Given the description of an element on the screen output the (x, y) to click on. 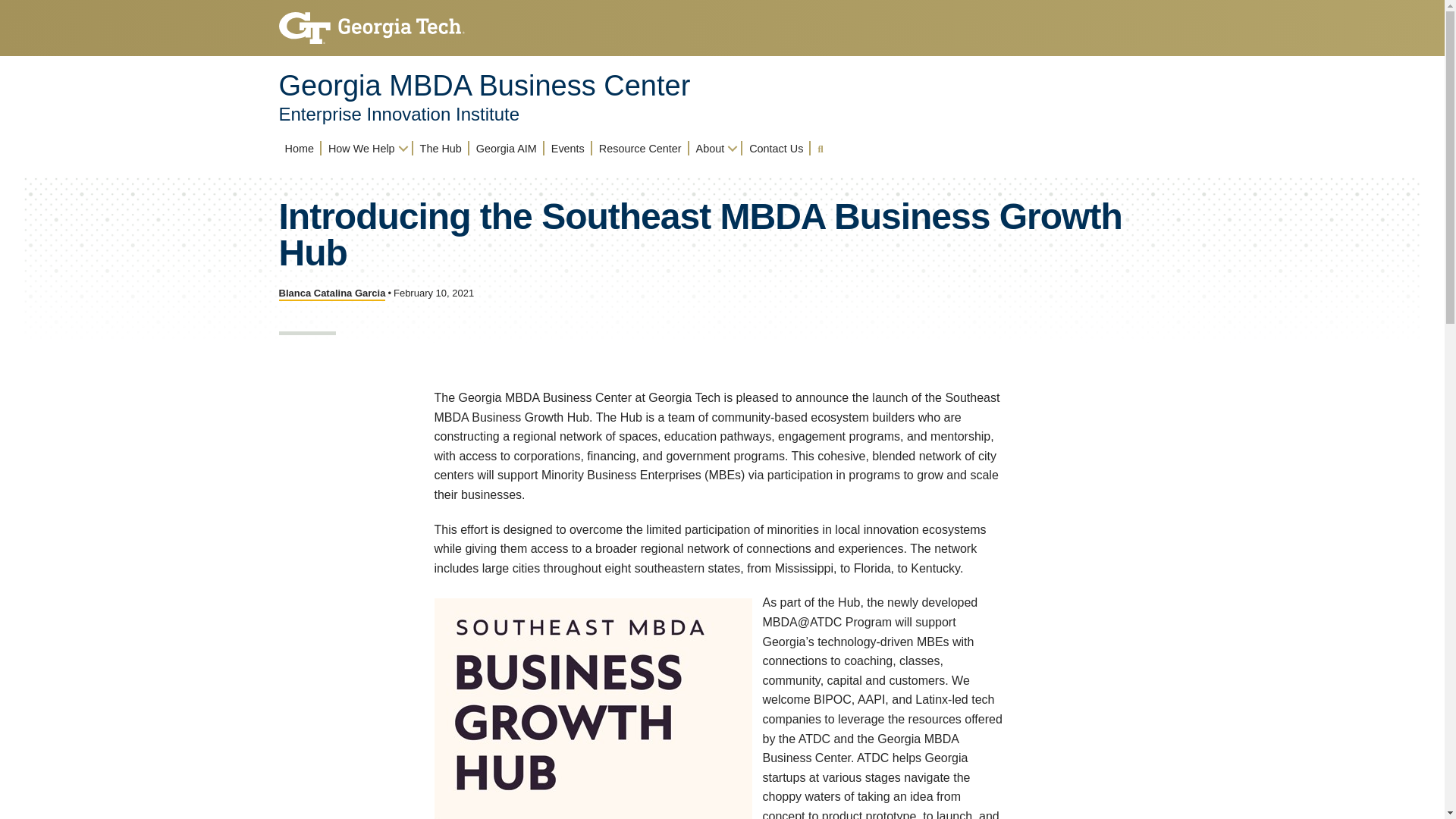
The Hub (440, 147)
Georgia MBDA Business Center (484, 85)
Home (299, 147)
Events (567, 147)
gt-logo-oneline-white (371, 28)
How We Help (366, 147)
Blanca Catalina Garcia (332, 294)
Georgia AIM (506, 147)
Resource Center (639, 147)
Contact Us (775, 147)
